Given the description of an element on the screen output the (x, y) to click on. 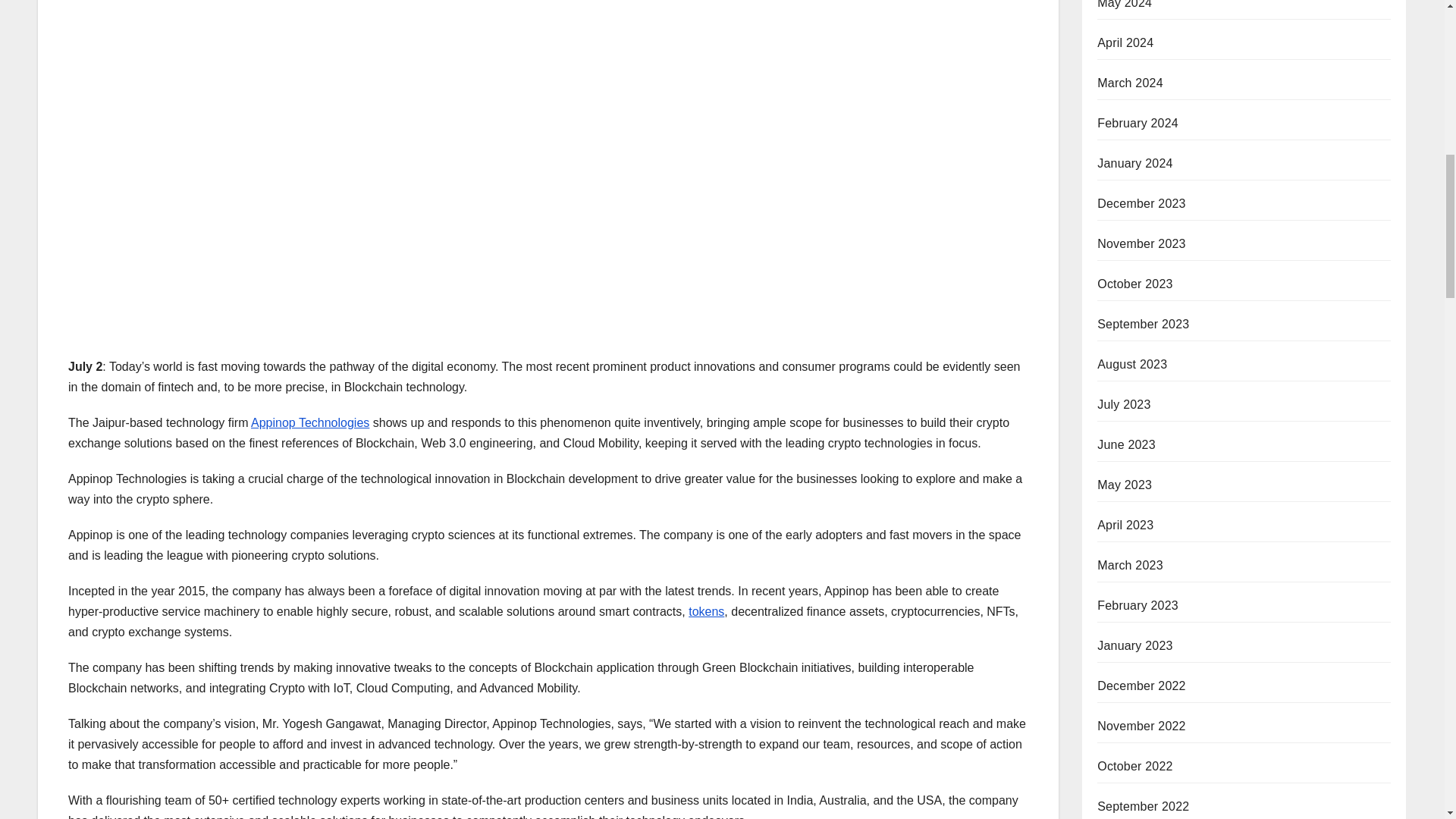
Appinop Technologies (309, 422)
tokens (705, 611)
